Given the description of an element on the screen output the (x, y) to click on. 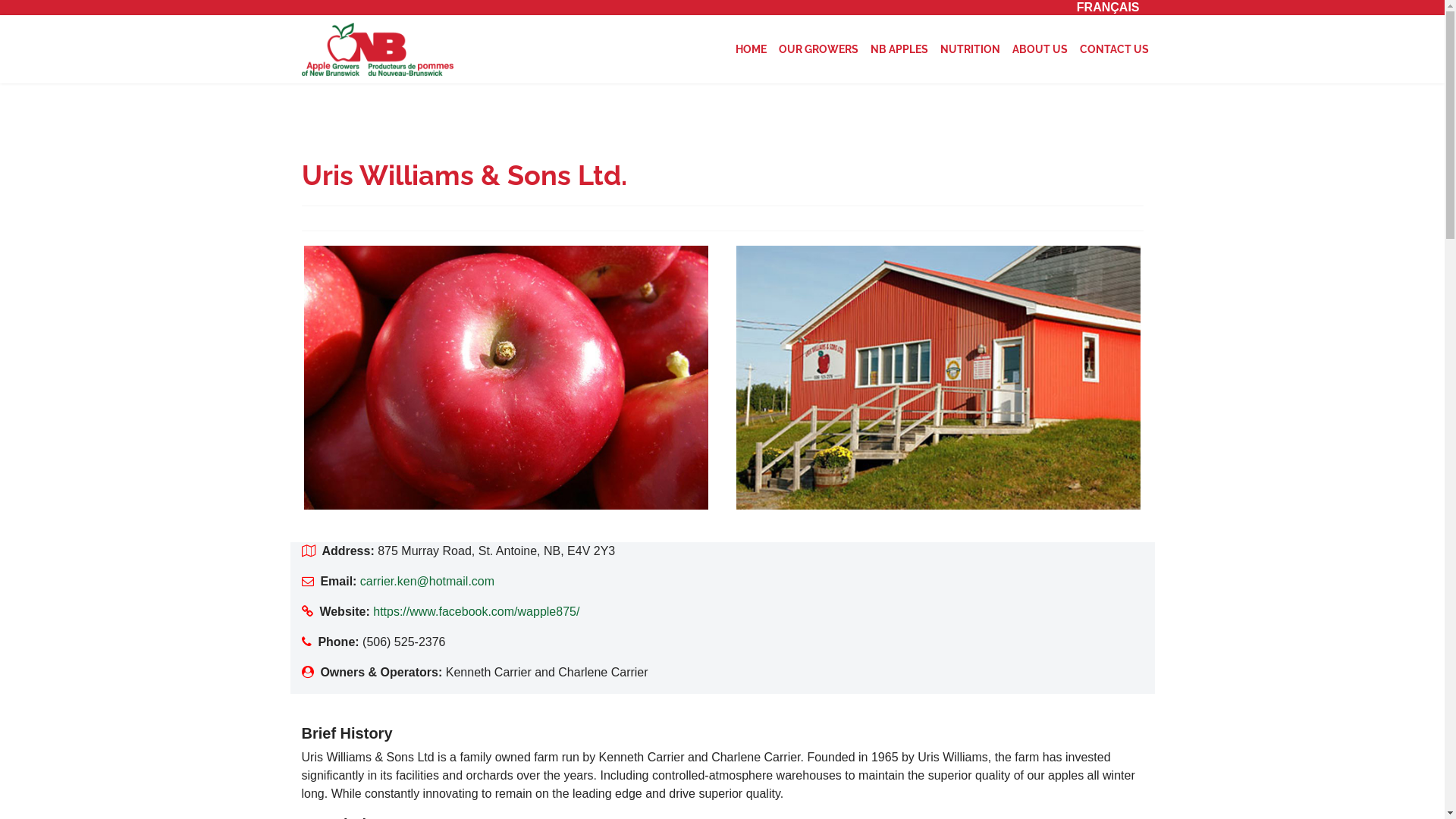
carrier.ken@hotmail.com Element type: text (427, 580)
OUR GROWERS Element type: text (817, 49)
NB APPLES Element type: text (899, 49)
CONTACT US Element type: text (1113, 49)
https://www.facebook.com/wapple875/ Element type: text (476, 611)
ABOUT US Element type: text (1039, 49)
HOME Element type: text (750, 49)
NUTRITION Element type: text (970, 49)
